Given the description of an element on the screen output the (x, y) to click on. 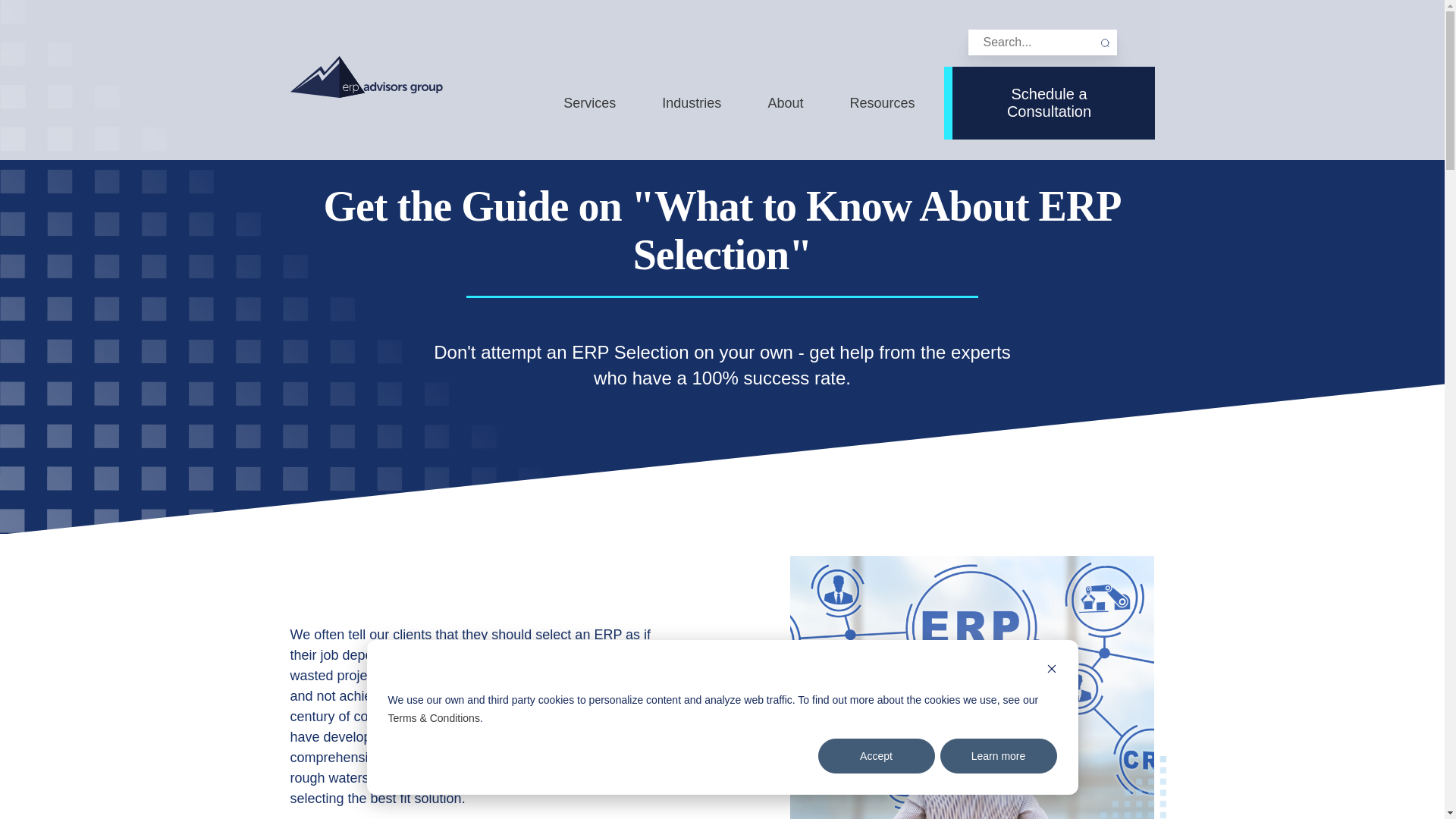
Industries (691, 102)
About (785, 102)
ERPlogo (365, 77)
Resources (881, 102)
Services (589, 102)
